Given the description of an element on the screen output the (x, y) to click on. 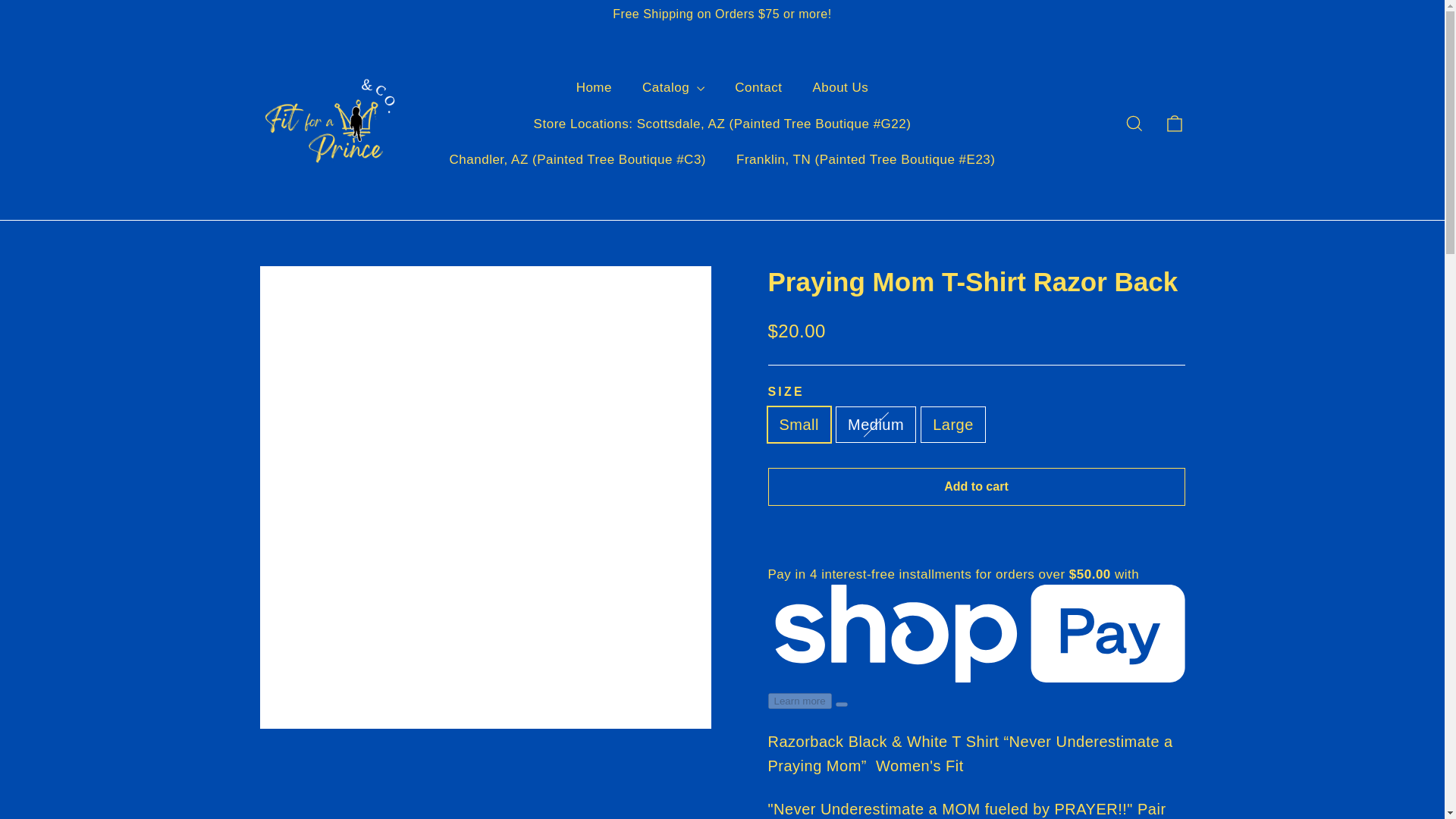
Contact (757, 87)
Home (593, 87)
About Us (839, 87)
Catalog (673, 87)
